Given the description of an element on the screen output the (x, y) to click on. 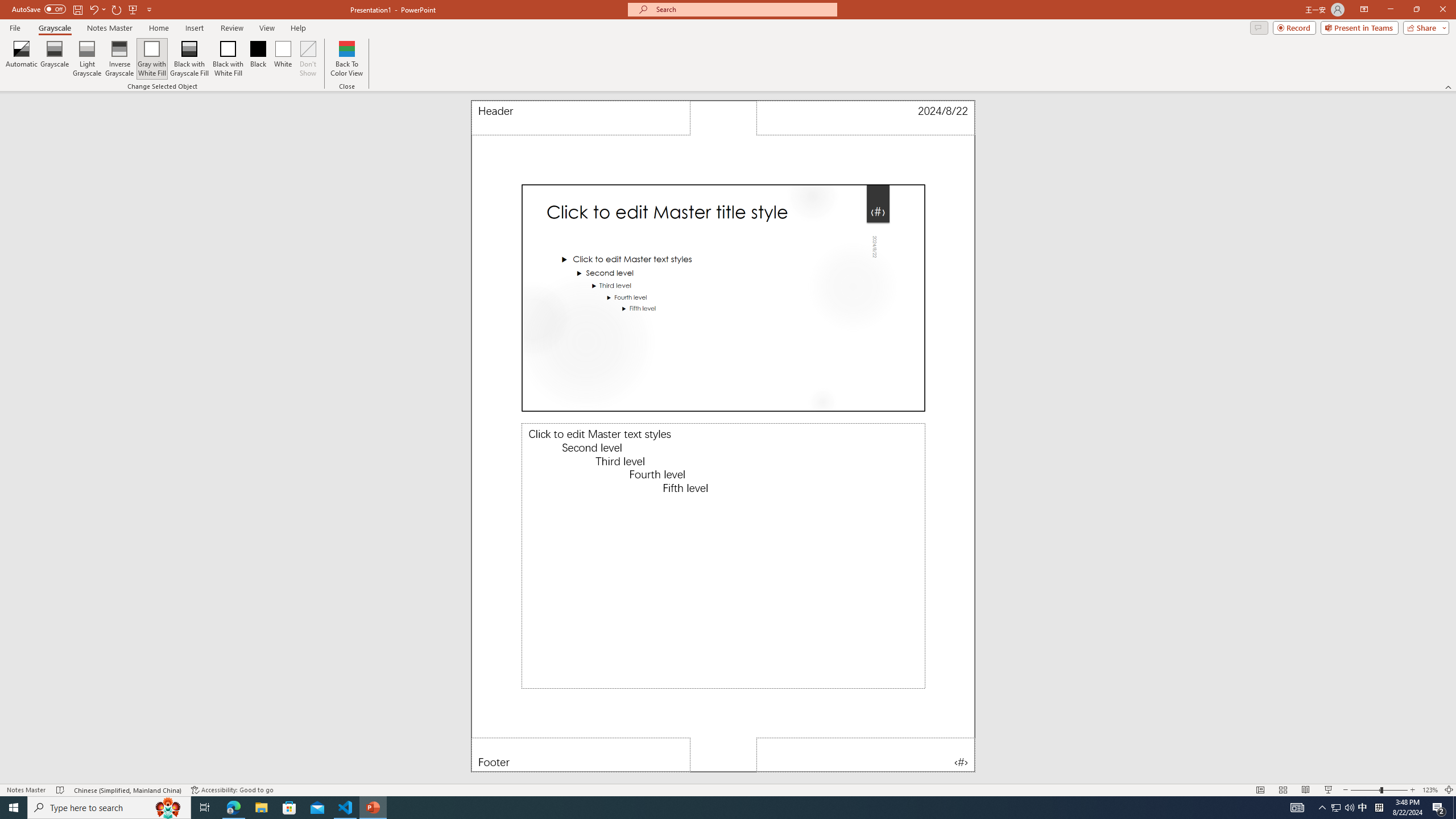
Grayscale (54, 28)
Black with White Fill (227, 58)
Footer (580, 754)
Don't Show (308, 58)
Zoom 123% (1430, 790)
Inverse Grayscale (119, 58)
